Given the description of an element on the screen output the (x, y) to click on. 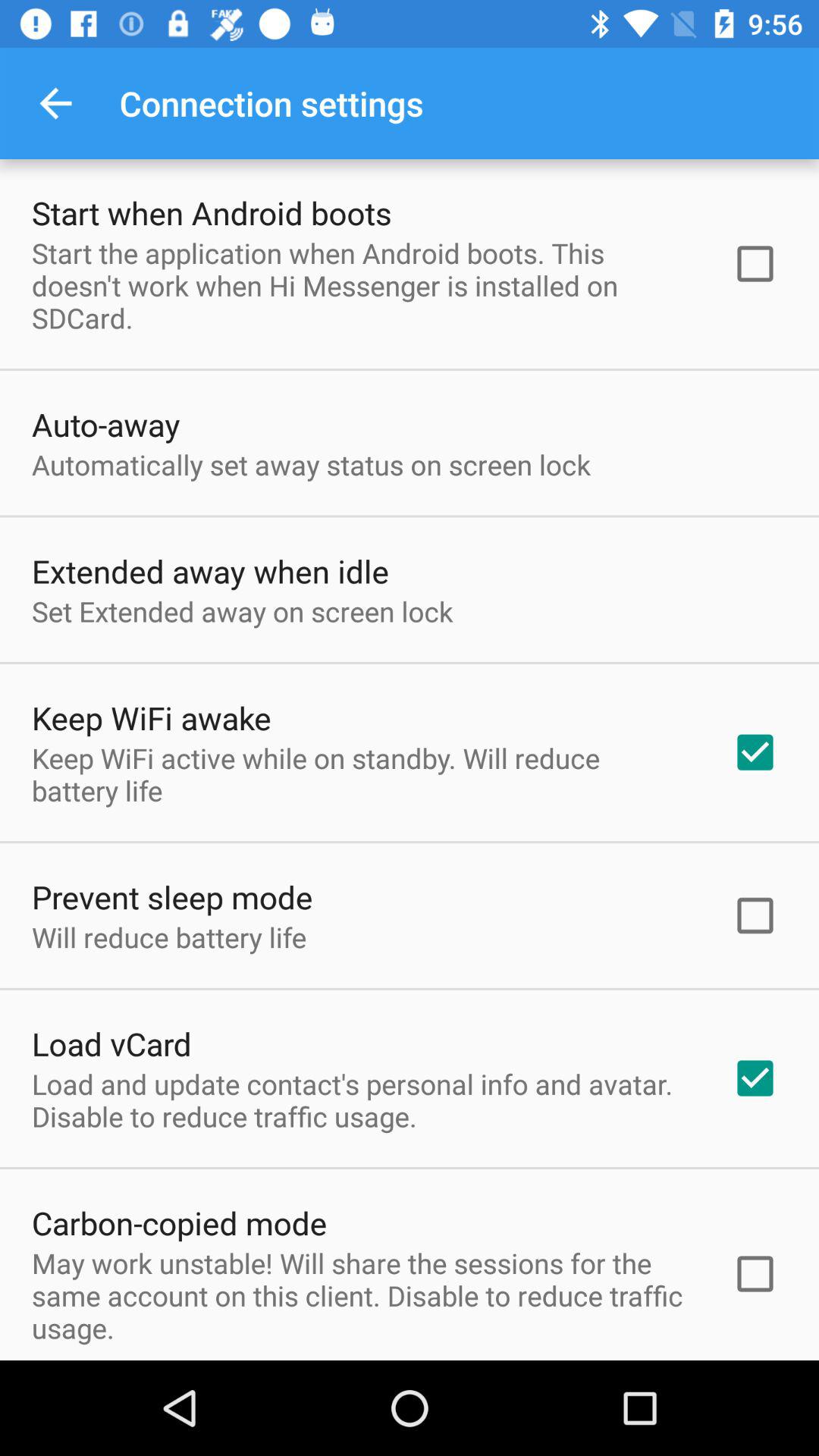
choose carbon-copied mode icon (179, 1222)
